Given the description of an element on the screen output the (x, y) to click on. 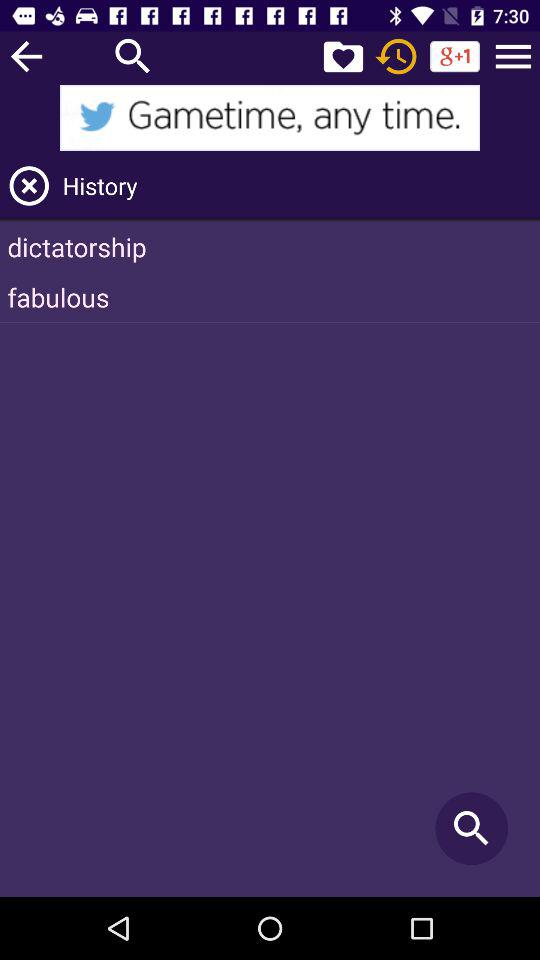
jump to the fabulous item (270, 297)
